Given the description of an element on the screen output the (x, y) to click on. 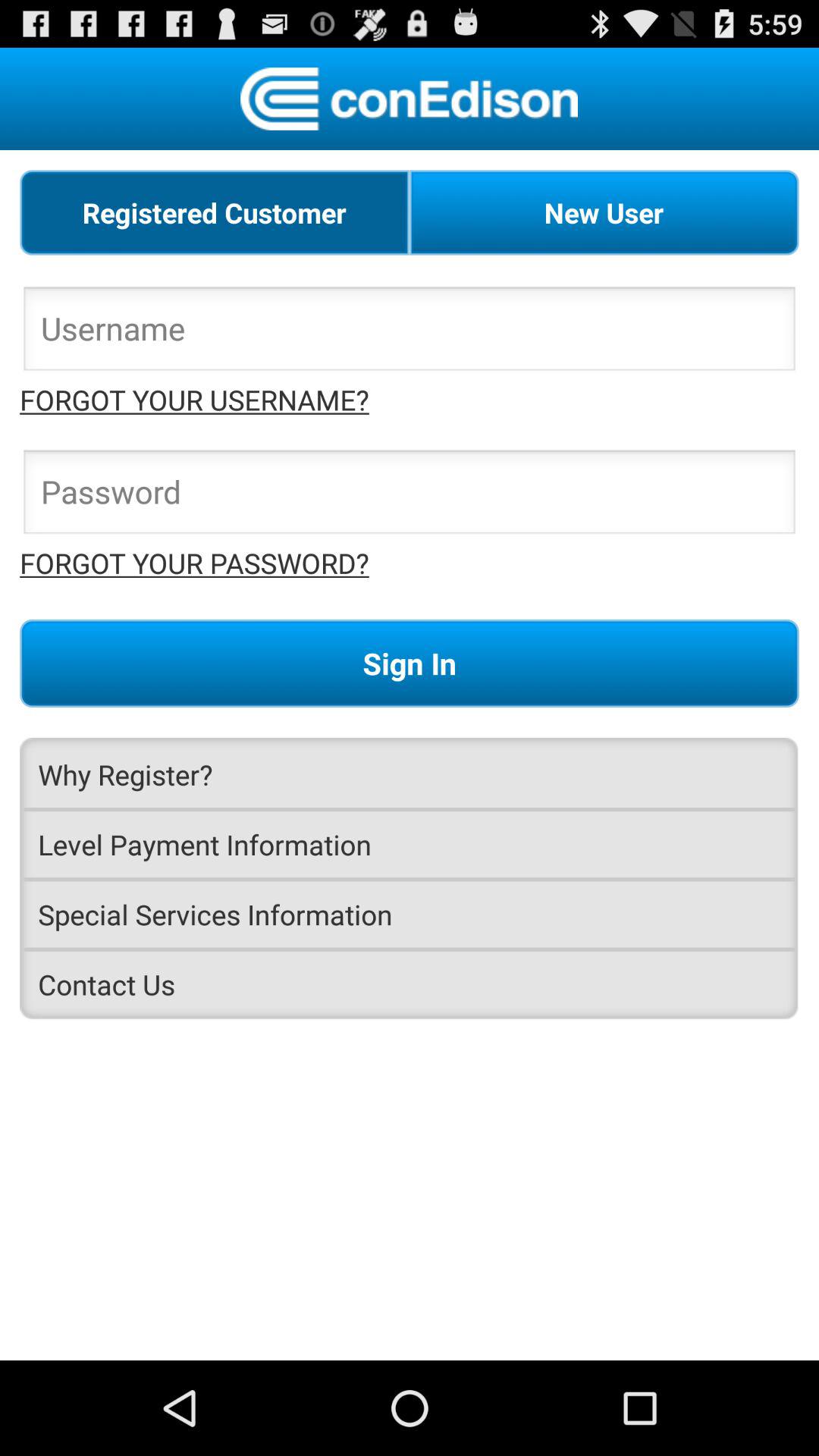
input password (409, 496)
